Given the description of an element on the screen output the (x, y) to click on. 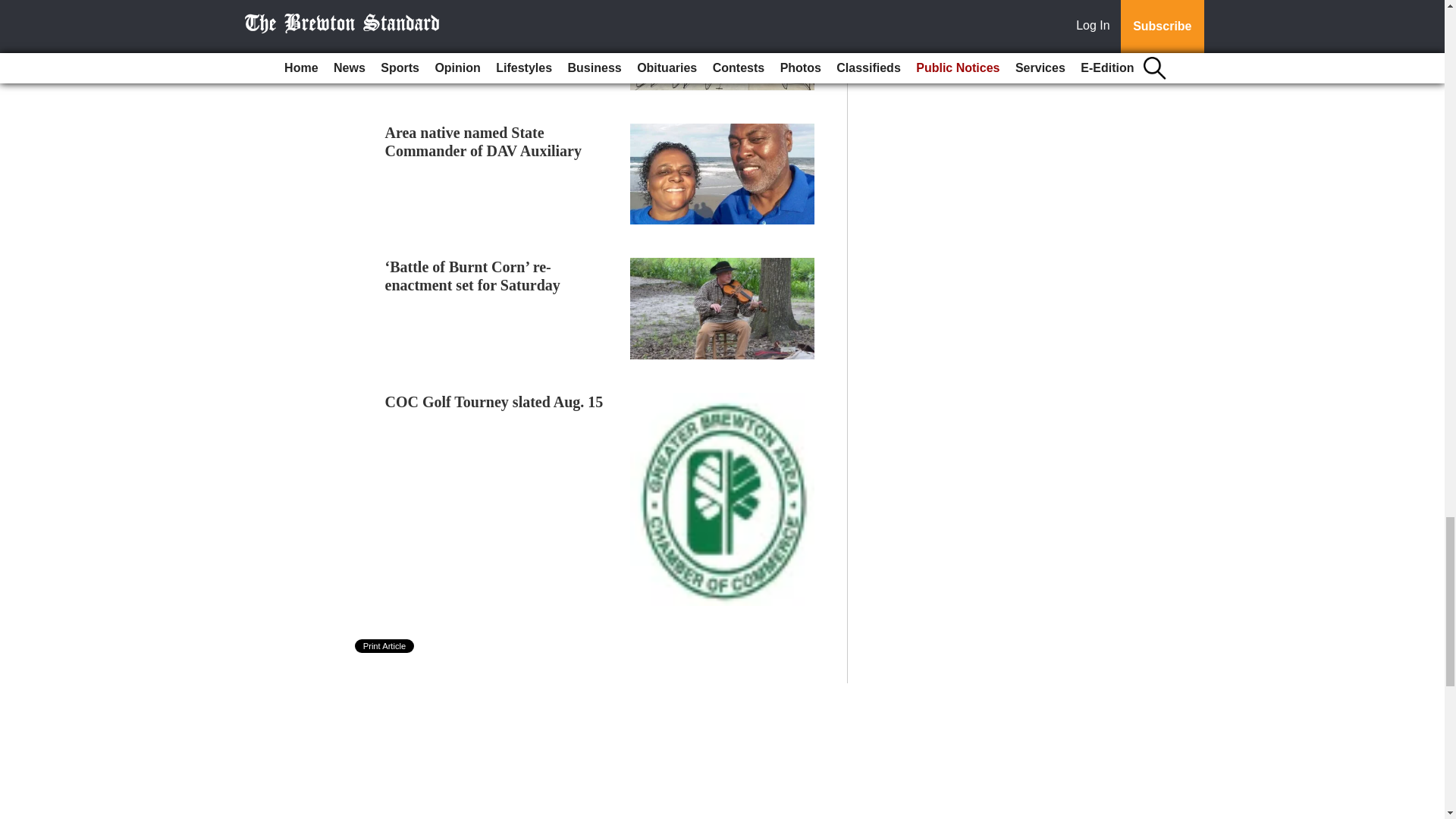
Area native named State Commander of DAV Auxiliary (482, 141)
COC Golf Tourney slated Aug. 15 (494, 401)
Area native named State Commander of DAV Auxiliary (482, 141)
COC Golf Tourney slated Aug. 15 (494, 401)
Print Article (384, 645)
